Given the description of an element on the screen output the (x, y) to click on. 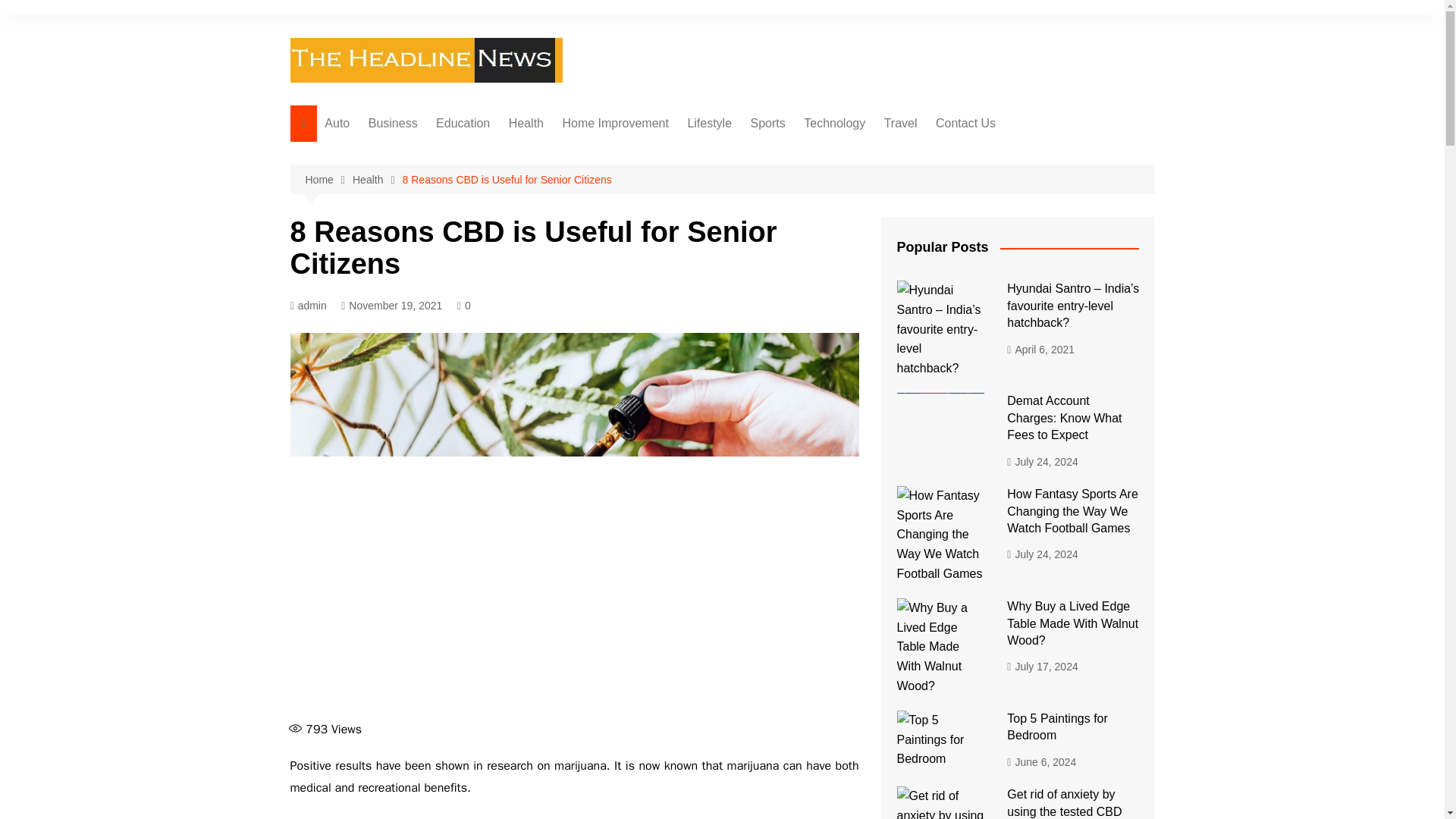
jewellery (762, 154)
Lifestyle (709, 123)
8 Reasons CBD is Useful for Senior Citizens (507, 179)
Finance (444, 154)
Food (584, 154)
Loan (444, 179)
Travel (900, 123)
Health (377, 180)
Contact Us (965, 123)
Law (444, 229)
Fashion (762, 179)
Home (328, 180)
Digital Marketing (879, 154)
Real Estate (637, 154)
Auto (336, 123)
